Given the description of an element on the screen output the (x, y) to click on. 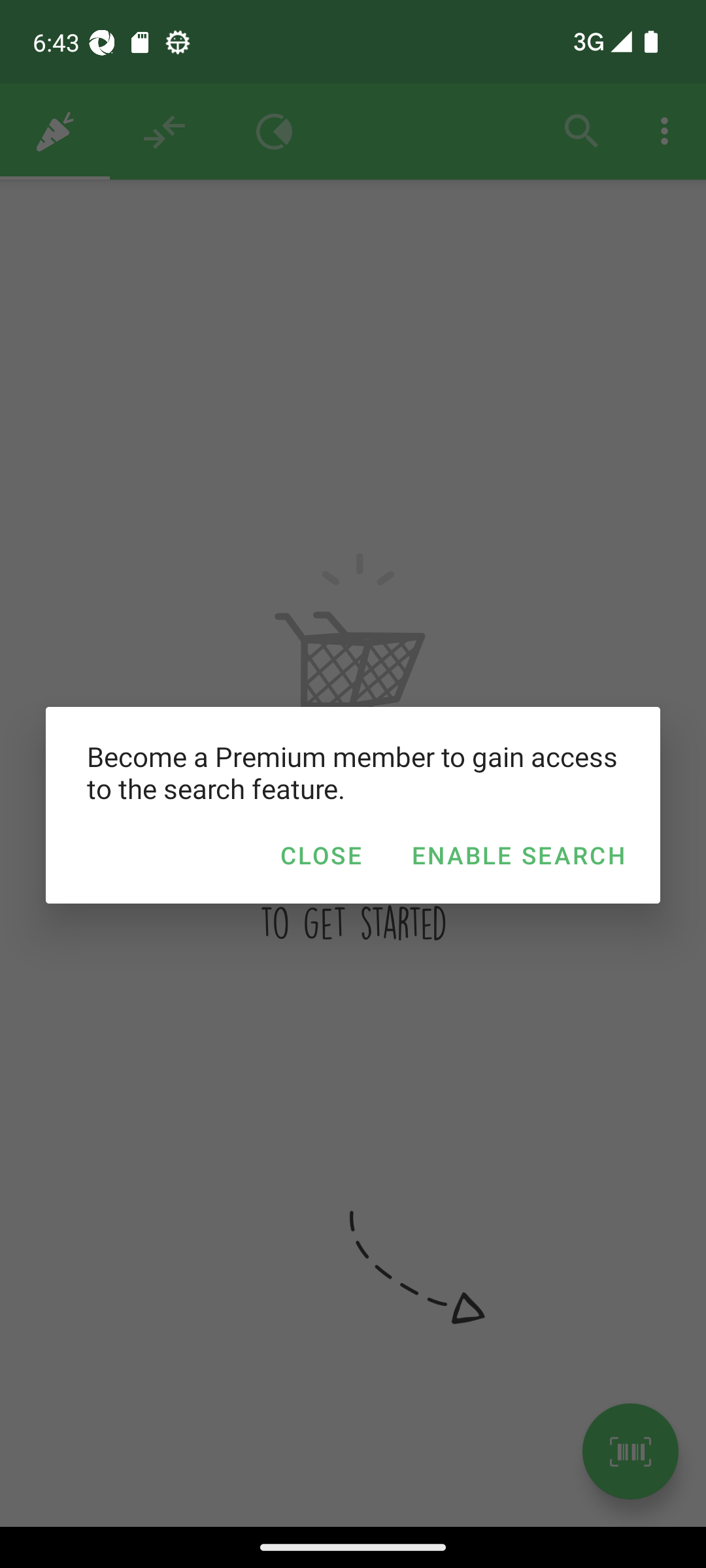
CLOSE (320, 854)
ENABLE SEARCH (517, 854)
